Given the description of an element on the screen output the (x, y) to click on. 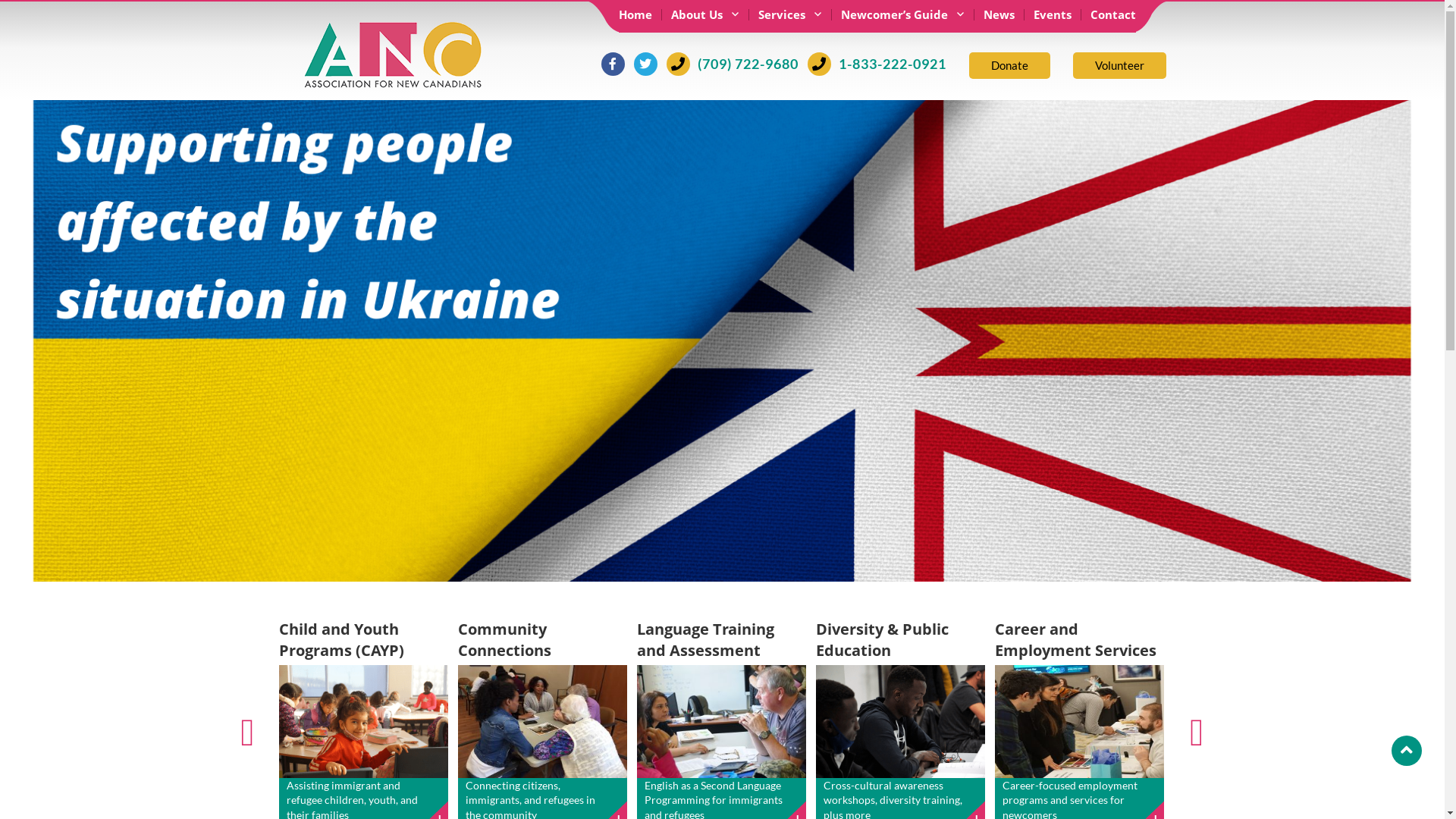
(709) 722-9680 Element type: text (731, 62)
Home Element type: text (640, 14)
Language Training and Assessment Element type: text (705, 639)
Donate Element type: text (1009, 64)
Career and Employment Services Element type: text (1075, 639)
1-833-222-0921 Element type: text (875, 62)
Services Element type: text (790, 14)
Volunteer Element type: text (1118, 64)
Community Connections Element type: text (504, 639)
Contact Element type: text (1108, 14)
About Us Element type: text (705, 14)
News Element type: text (998, 14)
Child and Youth Programs (CAYP) Element type: text (341, 639)
Diversity & Public Education Element type: text (881, 639)
Events Element type: text (1051, 14)
